Given the description of an element on the screen output the (x, y) to click on. 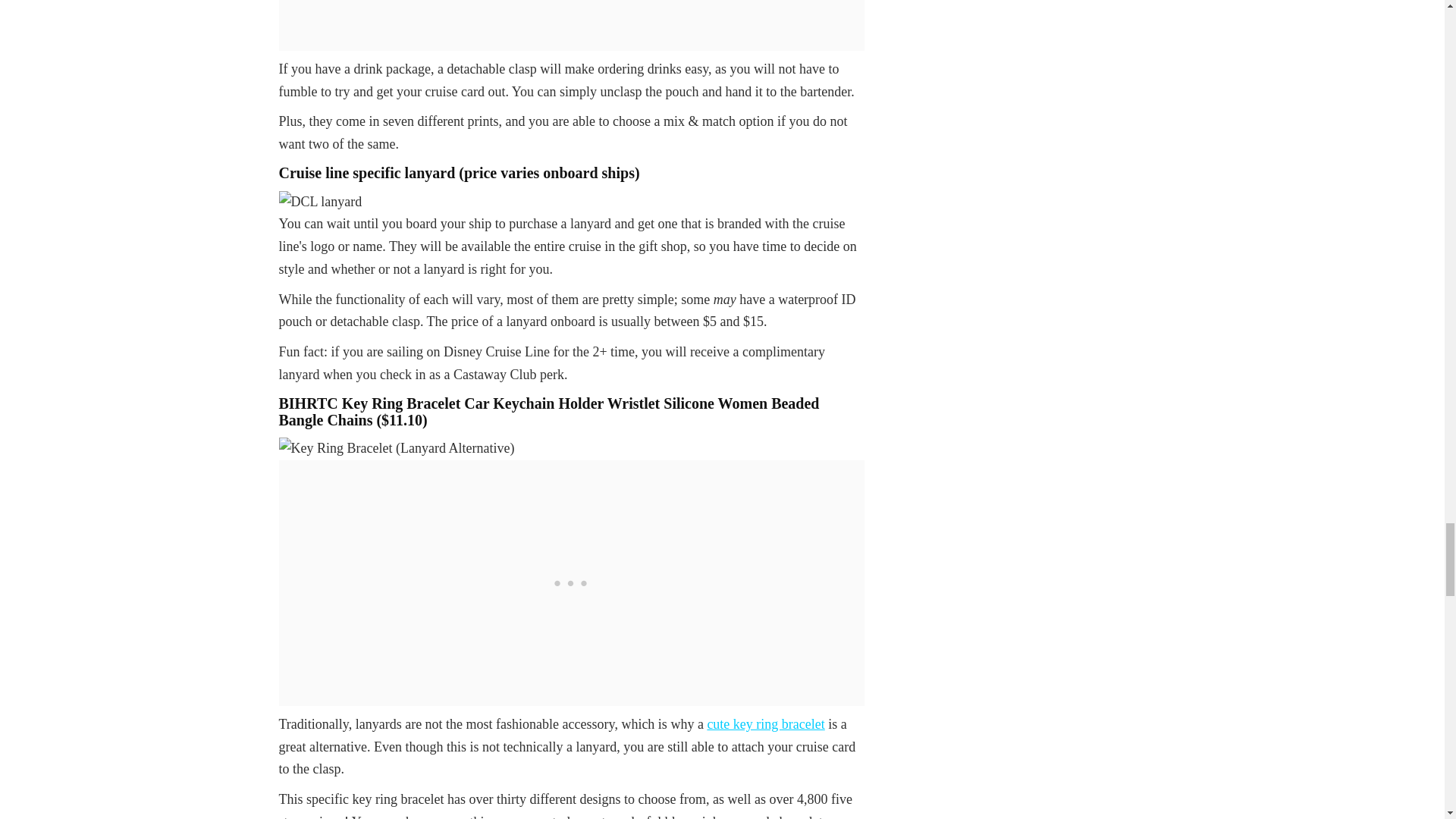
cute key ring bracelet (765, 724)
